Given the description of an element on the screen output the (x, y) to click on. 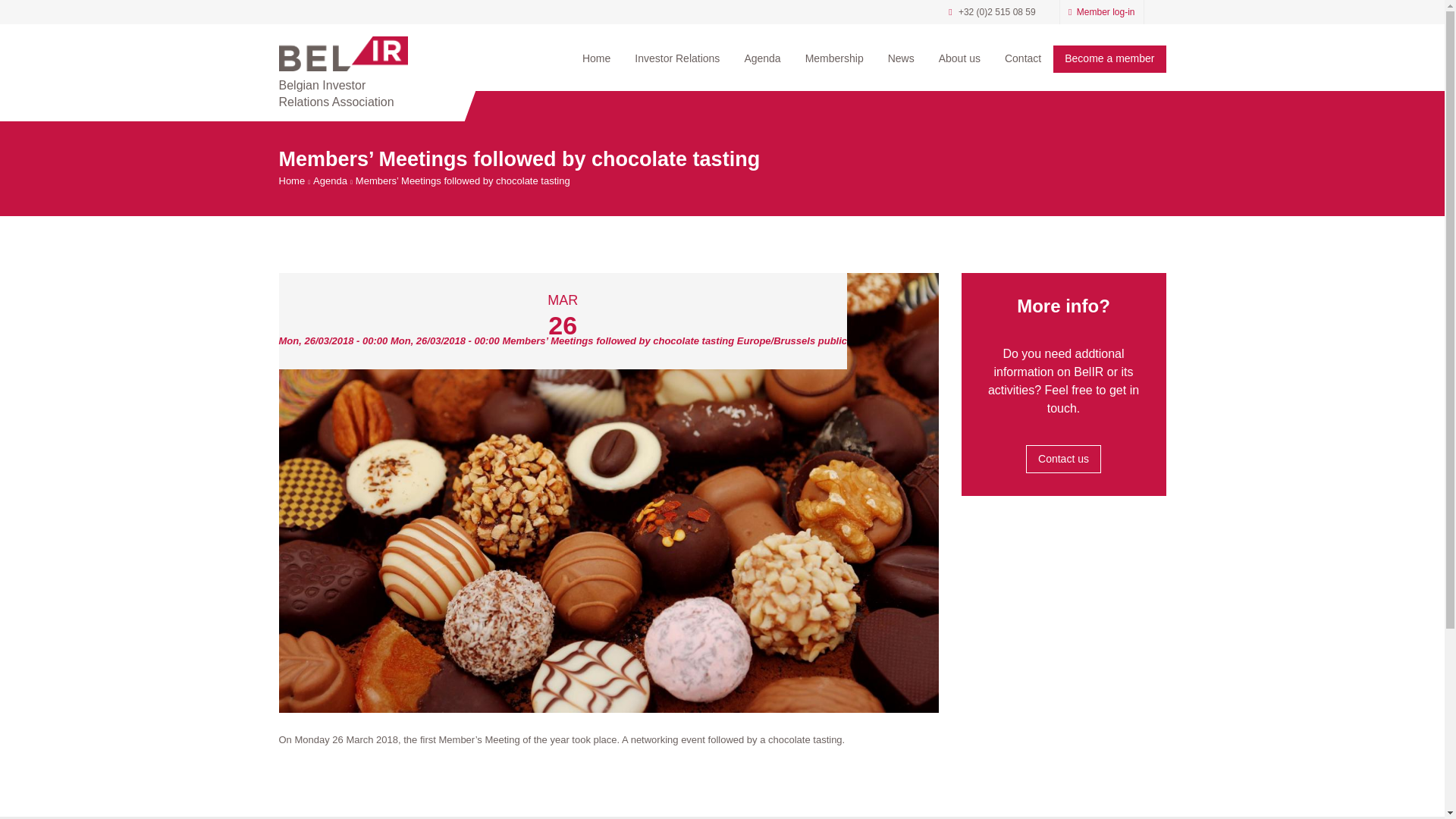
Contact Element type: text (1022, 58)
Home Element type: text (292, 181)
+32 (0)2 515 08 59 Element type: text (996, 11)
News Element type: text (901, 58)
Home Element type: text (596, 58)
chocolate tasting Element type: hover (608, 492)
Agenda Element type: text (761, 58)
Contact us Element type: text (1063, 459)
Agenda Element type: text (330, 181)
Become a member Element type: text (1109, 58)
Home Element type: hover (343, 53)
Member log-in Element type: text (1101, 11)
